Given the description of an element on the screen output the (x, y) to click on. 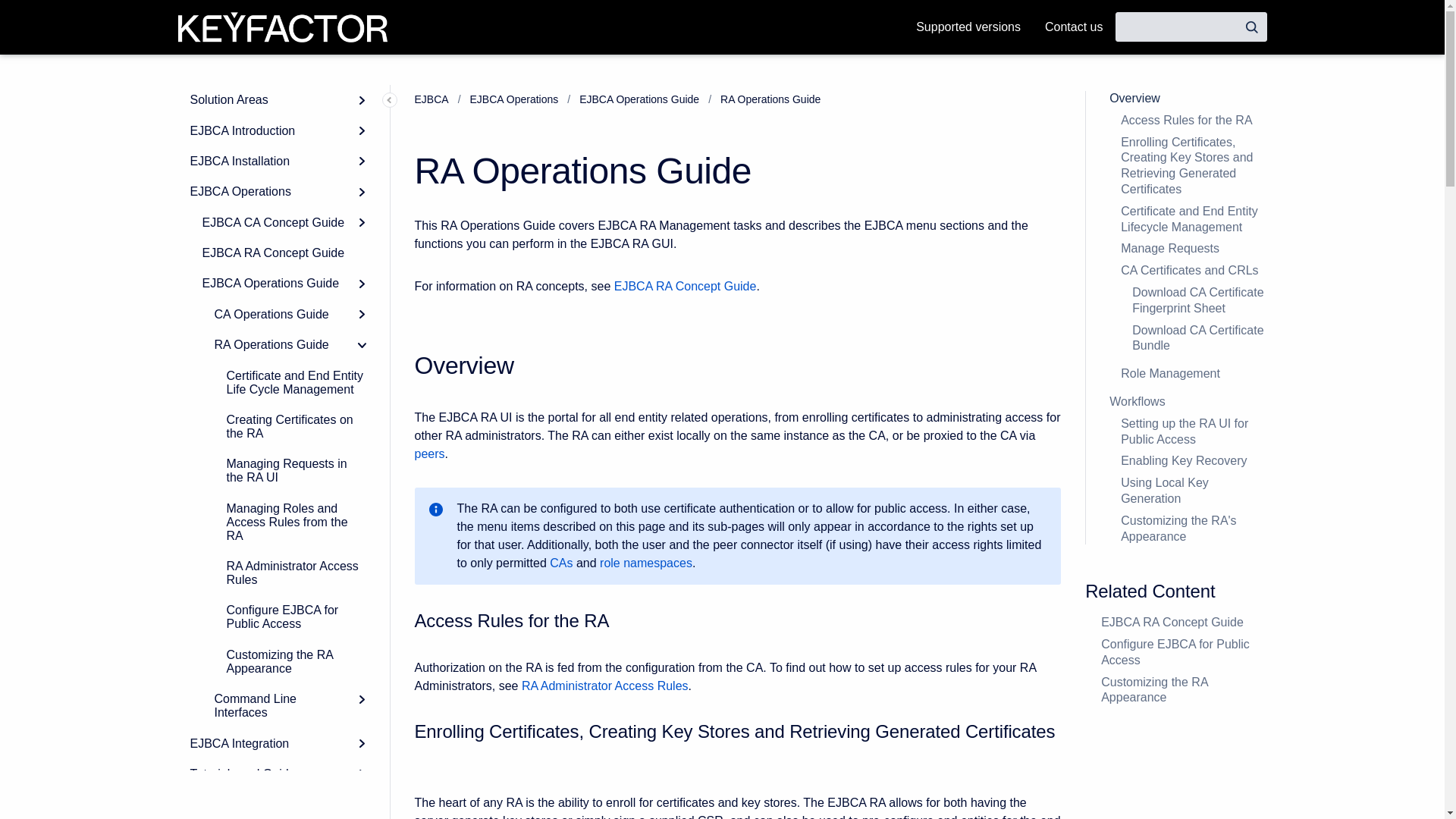
RA Operations Guide (289, 345)
Creating Certificates on the RA (295, 426)
Certificate and End Entity Life Cycle Management (295, 382)
EJBCA RA Concept Guide (283, 253)
Contact us (1073, 27)
RA Administrator Access Rules (295, 573)
EJBCA Integration (277, 743)
Solution Areas (277, 100)
Tutorials and Guides (277, 774)
Customizing the RA Appearance (295, 661)
